Given the description of an element on the screen output the (x, y) to click on. 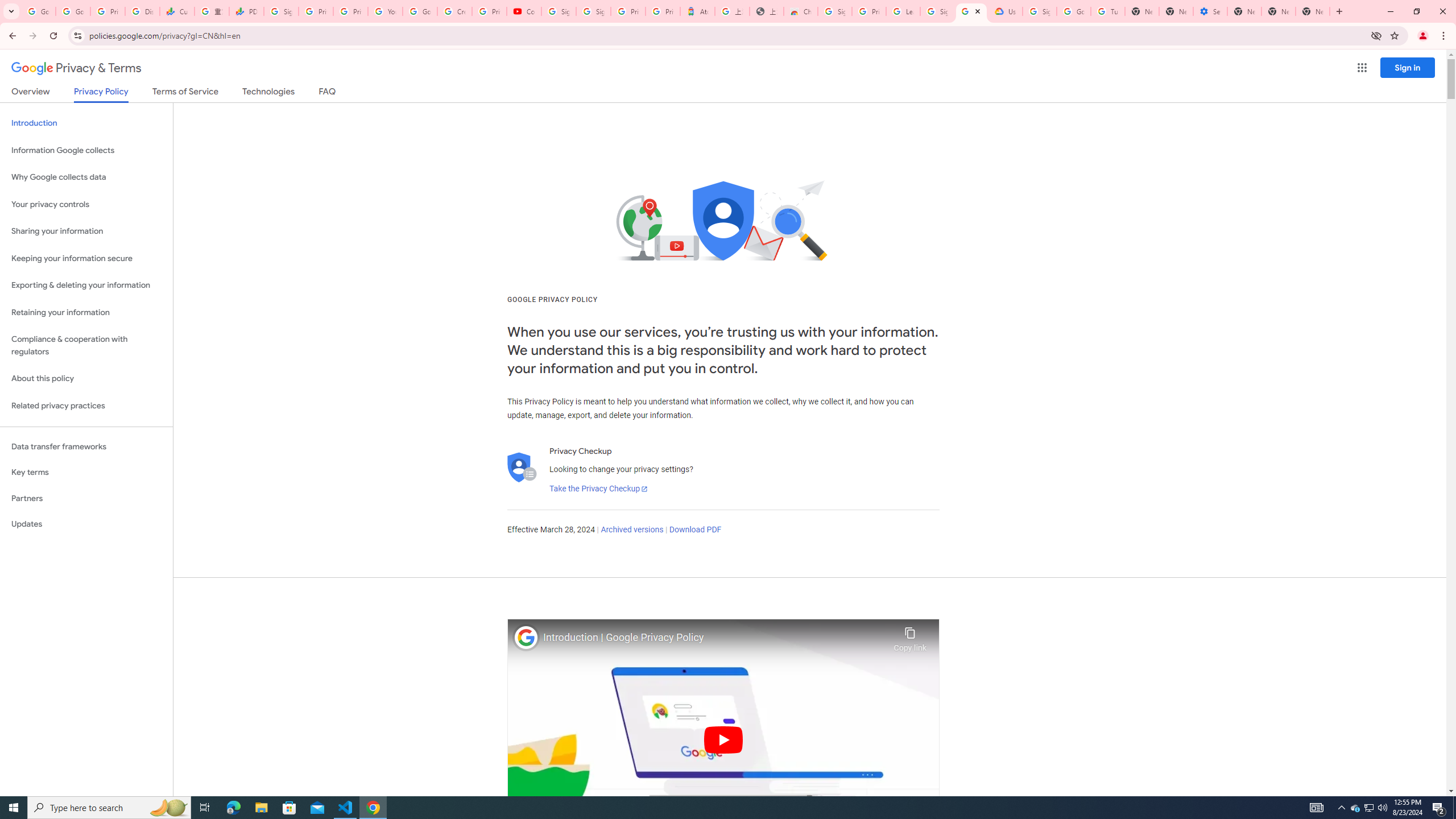
YouTube (384, 11)
Introduction | Google Privacy Policy (715, 637)
Chrome Web Store - Color themes by Chrome (800, 11)
Your privacy controls (86, 204)
